Given the description of an element on the screen output the (x, y) to click on. 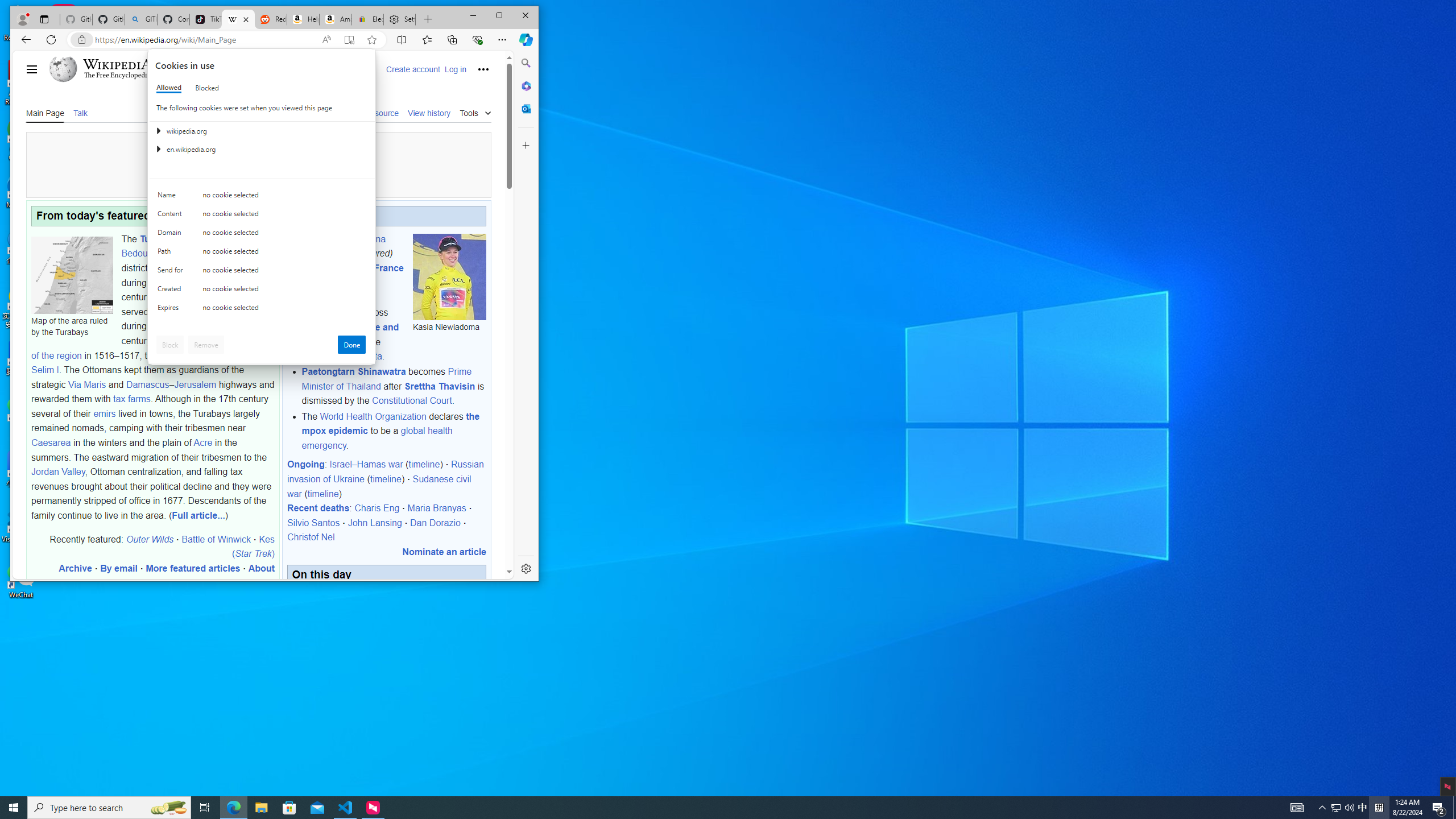
Allowed (169, 87)
Block (169, 344)
